Given the description of an element on the screen output the (x, y) to click on. 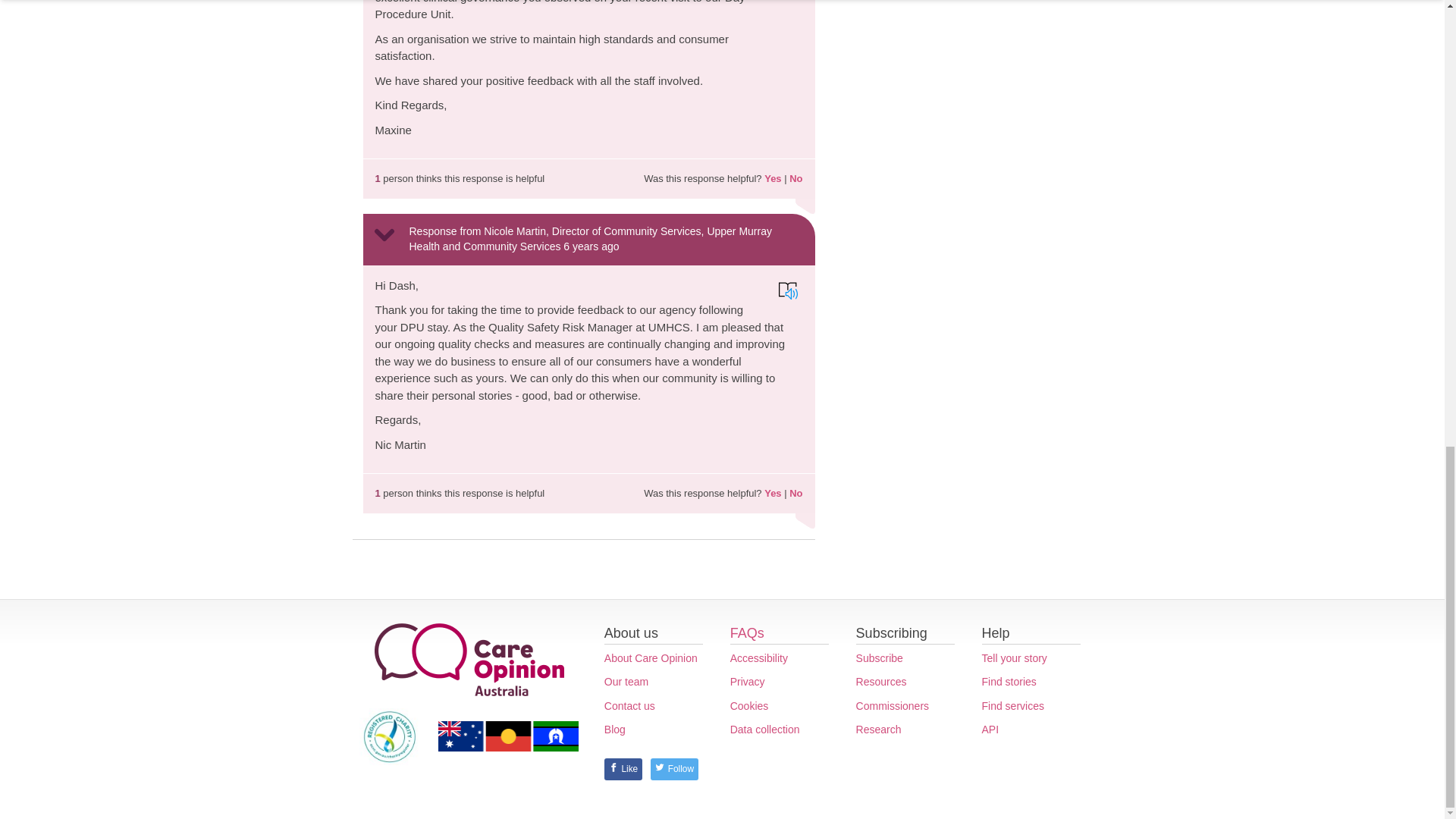
Australian Charities and Not-for-profits Commission (389, 736)
Care Opinion proudly supports reconciliation (508, 736)
